Given the description of an element on the screen output the (x, y) to click on. 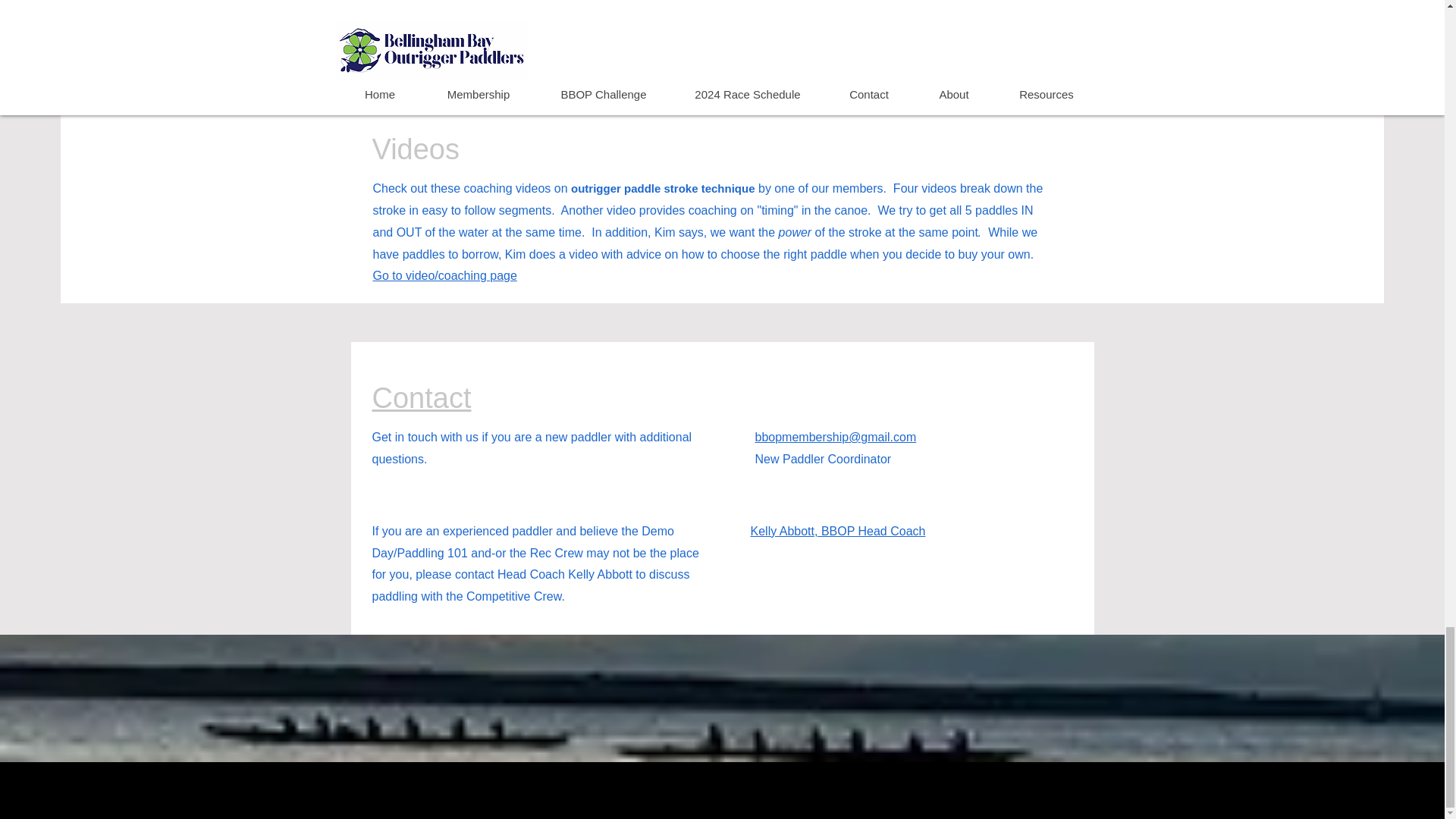
Equipment and Gear (577, 72)
Kelly Abbott, BBOP Head Coach (838, 530)
Go to New Paddler FAQ (440, 29)
Contact (420, 398)
